Given the description of an element on the screen output the (x, y) to click on. 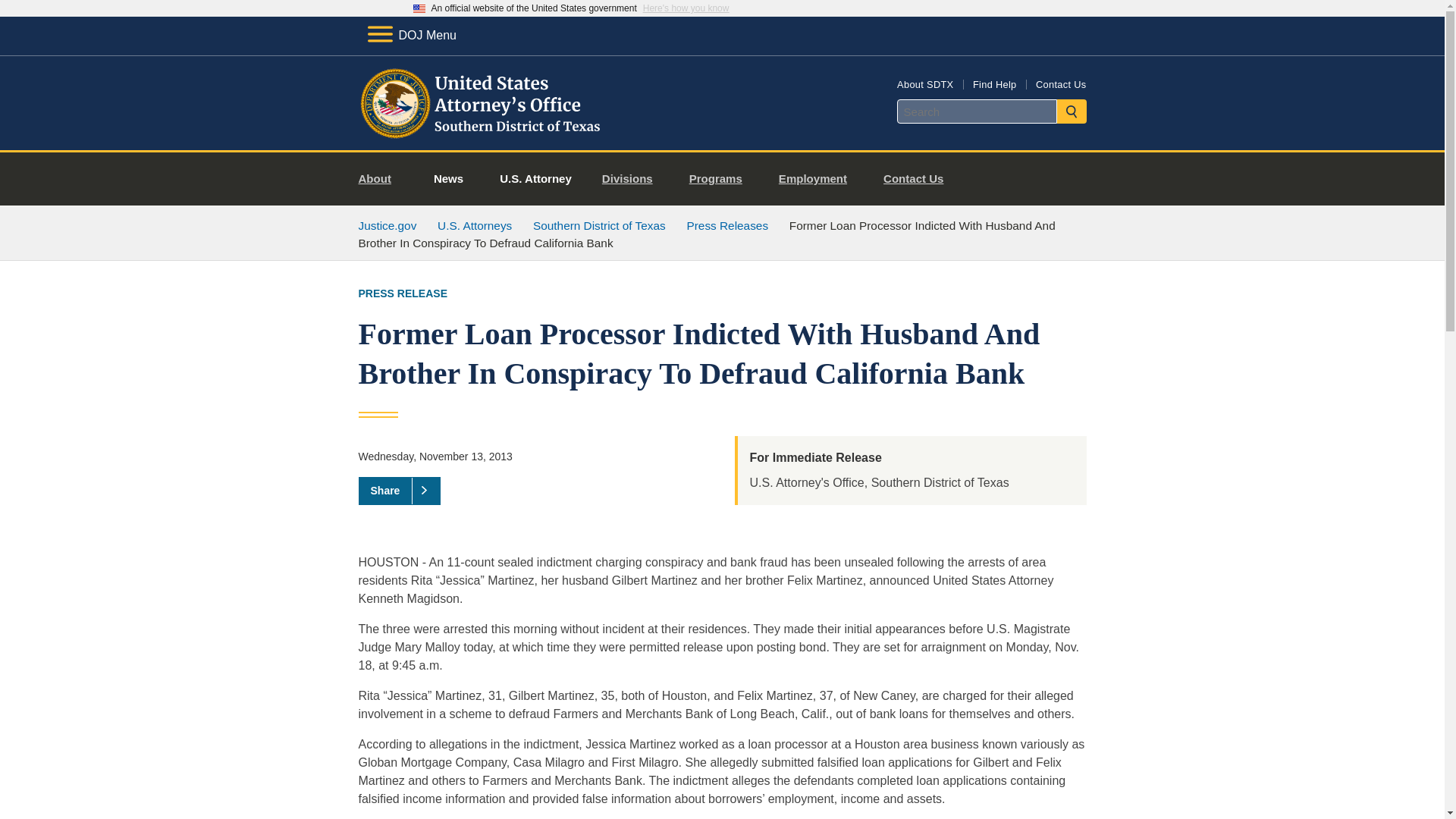
Employment (818, 179)
U.S. Attorneys (475, 225)
Here's how you know (686, 8)
U.S. Attorney (535, 179)
Programs (722, 179)
Find Help (994, 84)
Contact Us (919, 179)
Home (481, 132)
Share (398, 490)
Southern District of Texas (598, 225)
